Given the description of an element on the screen output the (x, y) to click on. 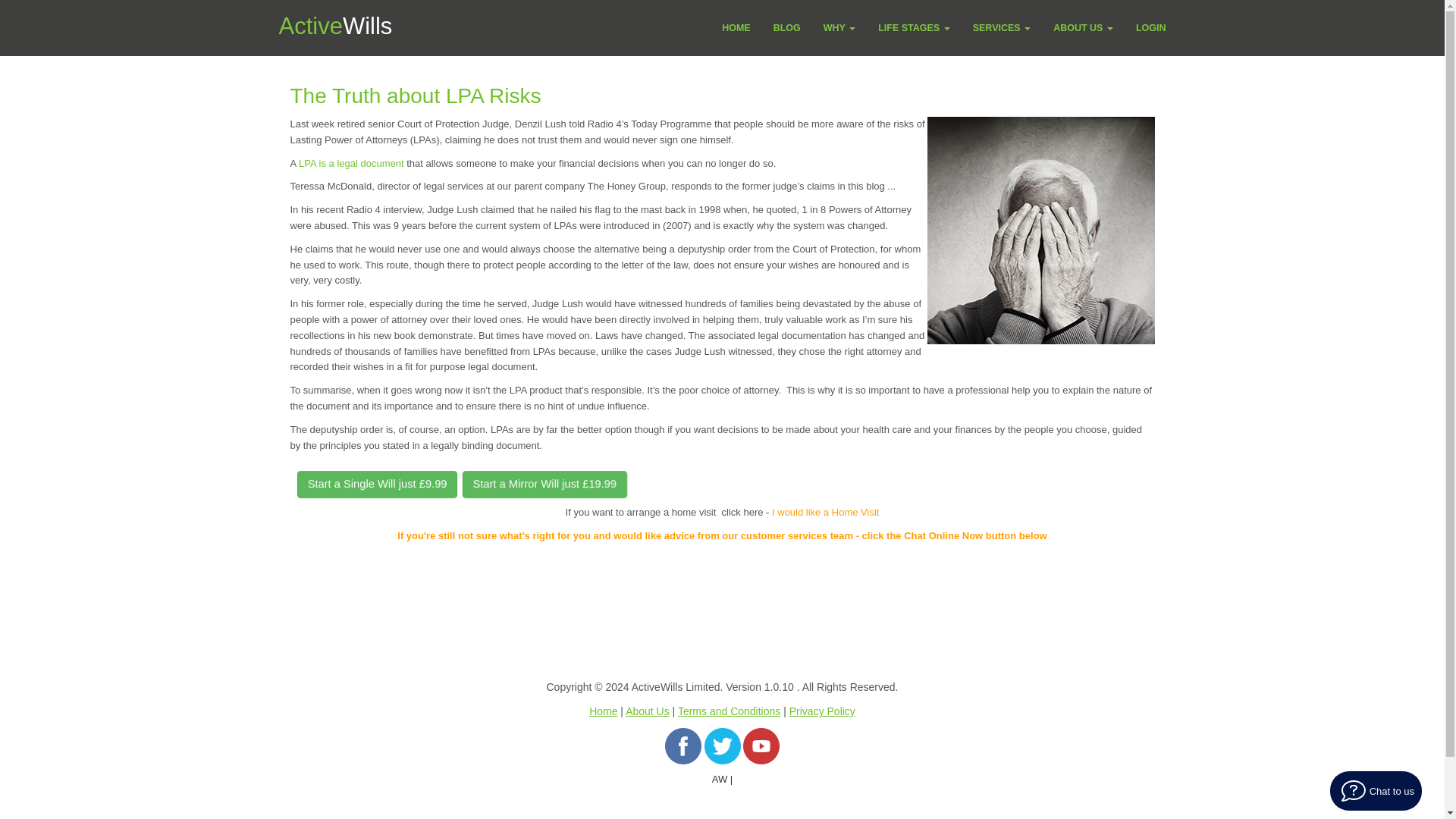
About Us (647, 711)
I would like a Home Visit (825, 511)
Facebook (683, 744)
BLOG (786, 27)
ActiveWills (334, 20)
SERVICES (1001, 27)
Privacy Policy (822, 711)
ABOUT US (1083, 27)
Youtube (760, 744)
WHY (839, 27)
LIFE STAGES (913, 27)
Terms and Conditions (729, 711)
Twitter (721, 744)
LPA is a legal document (352, 163)
LOGIN (1150, 27)
